Given the description of an element on the screen output the (x, y) to click on. 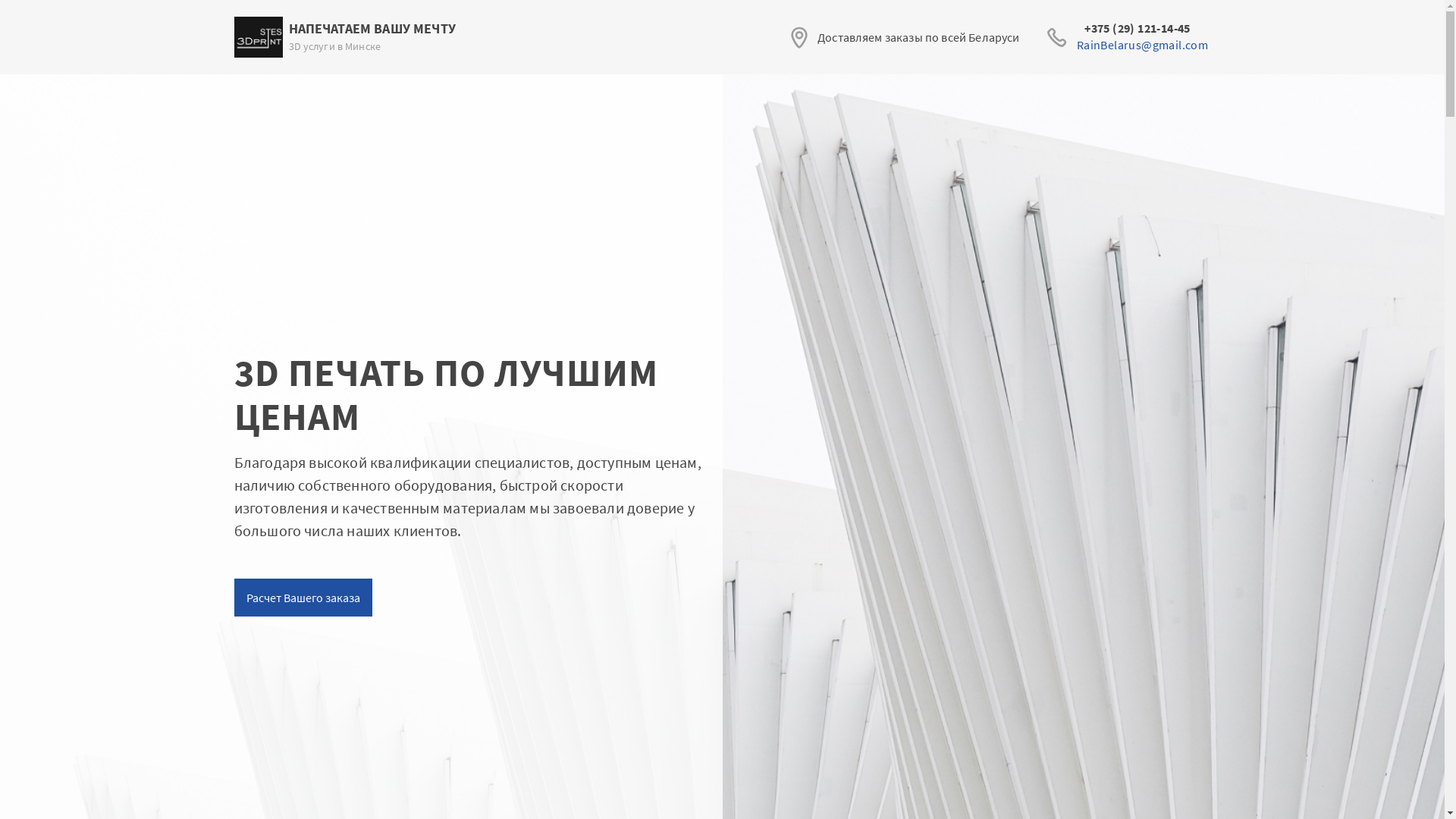
    +375 (29) 121-14-45 Element type: text (1141, 27)
RainBelarus@gmail.com Element type: text (1141, 44)
